Given the description of an element on the screen output the (x, y) to click on. 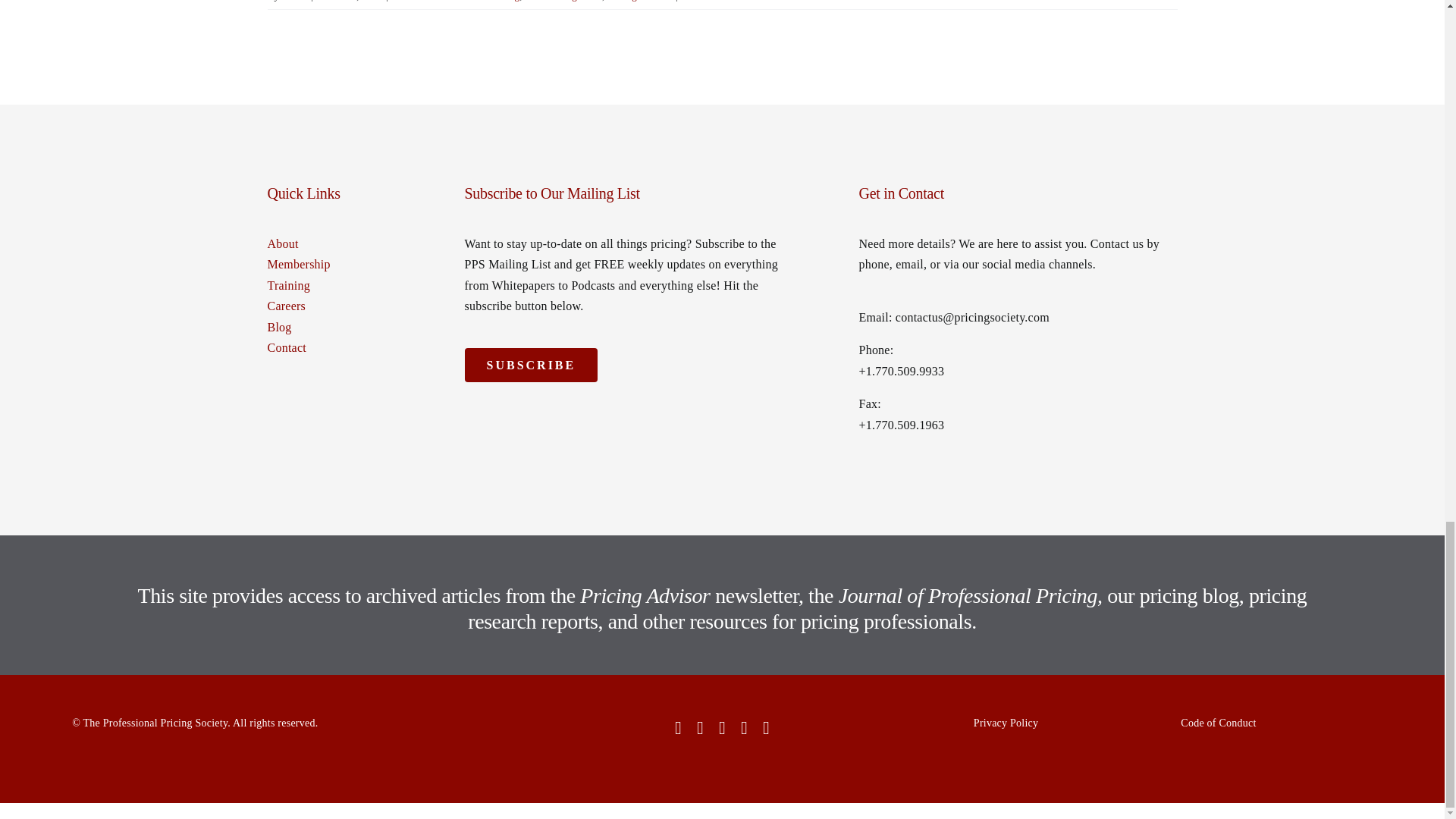
Posts by admin (294, 0)
